Given the description of an element on the screen output the (x, y) to click on. 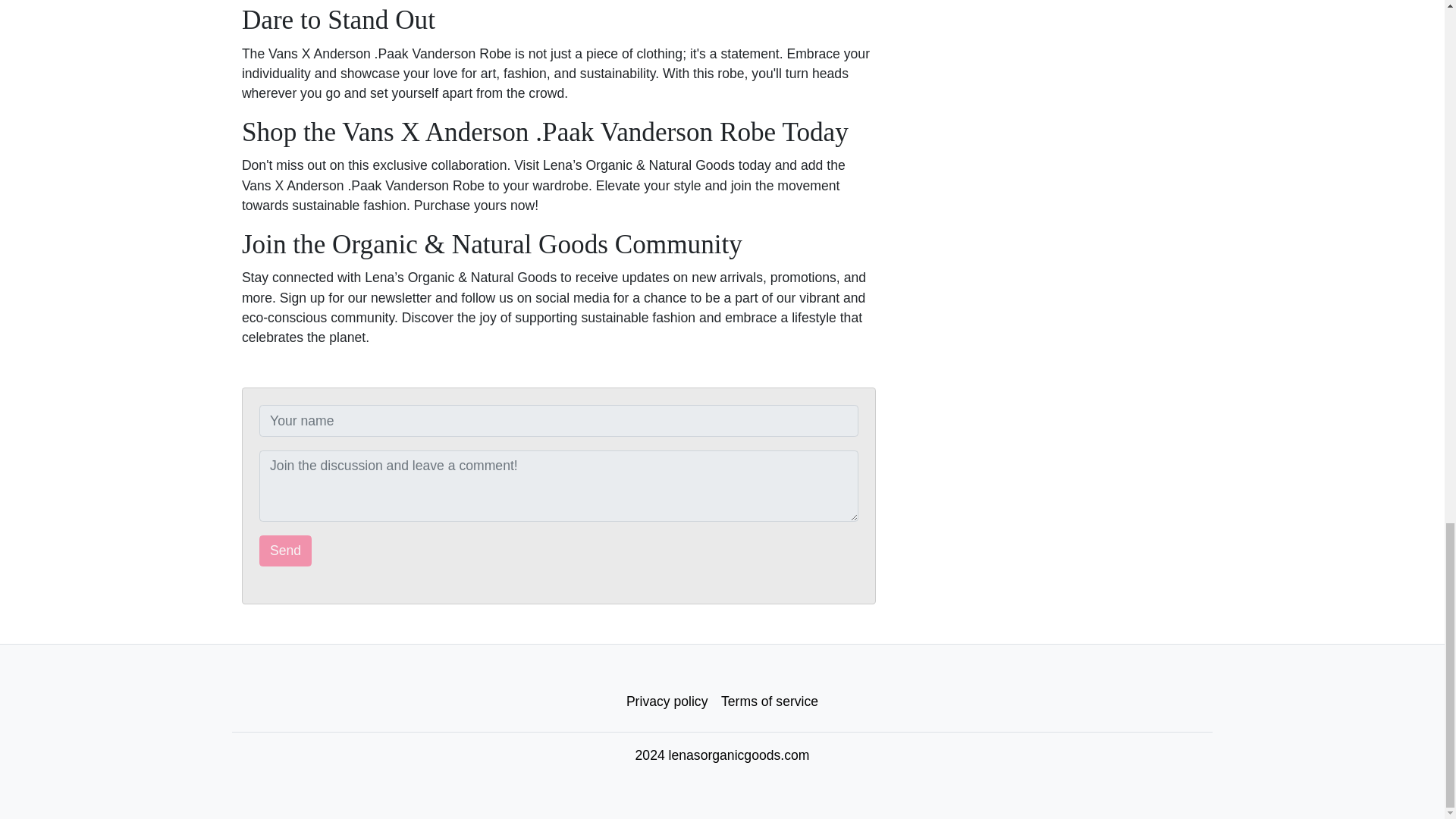
Send (285, 551)
Privacy policy (667, 701)
Terms of service (769, 701)
Send (285, 551)
